Given the description of an element on the screen output the (x, y) to click on. 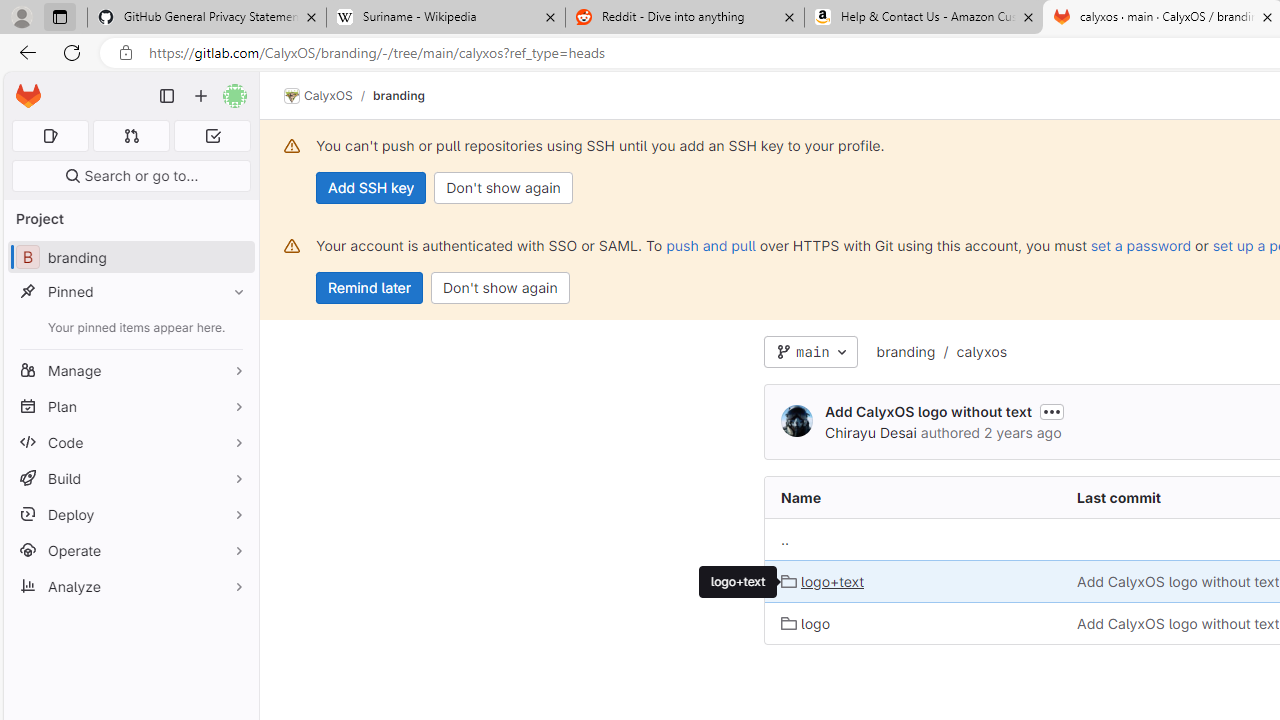
Remind later (369, 287)
Analyze (130, 586)
Help & Contact Us - Amazon Customer Service (924, 17)
Create new... (201, 96)
Don't show again (500, 287)
branding (905, 351)
Chirayu Desai (870, 432)
logo (805, 623)
Chirayu Desai's avatar (796, 420)
Toggle commit description (1051, 411)
Add CalyxOS logo without text (1178, 623)
Go to parent (784, 539)
Operate (130, 550)
